Given the description of an element on the screen output the (x, y) to click on. 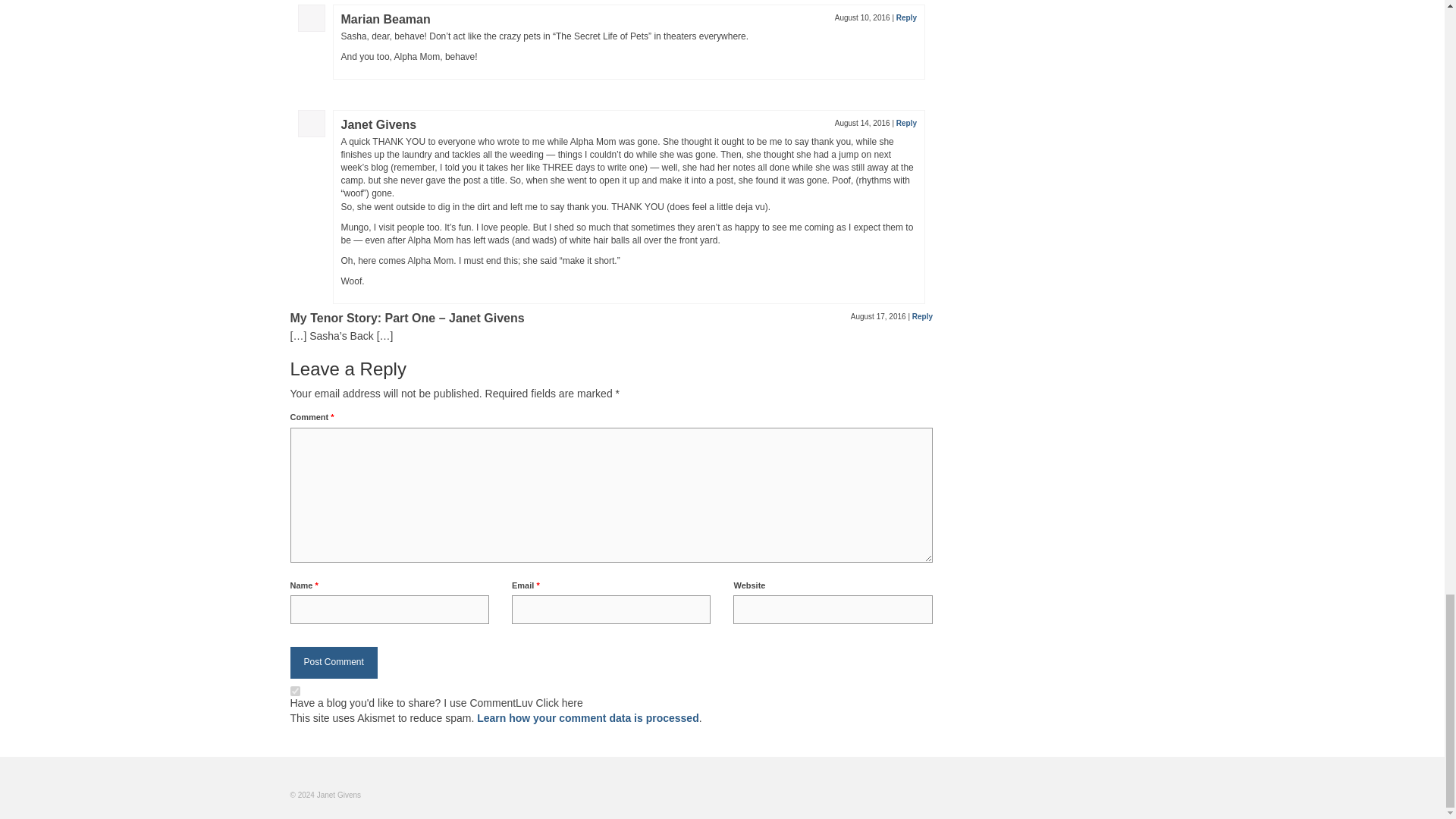
on (294, 691)
Post Comment (333, 662)
